Given the description of an element on the screen output the (x, y) to click on. 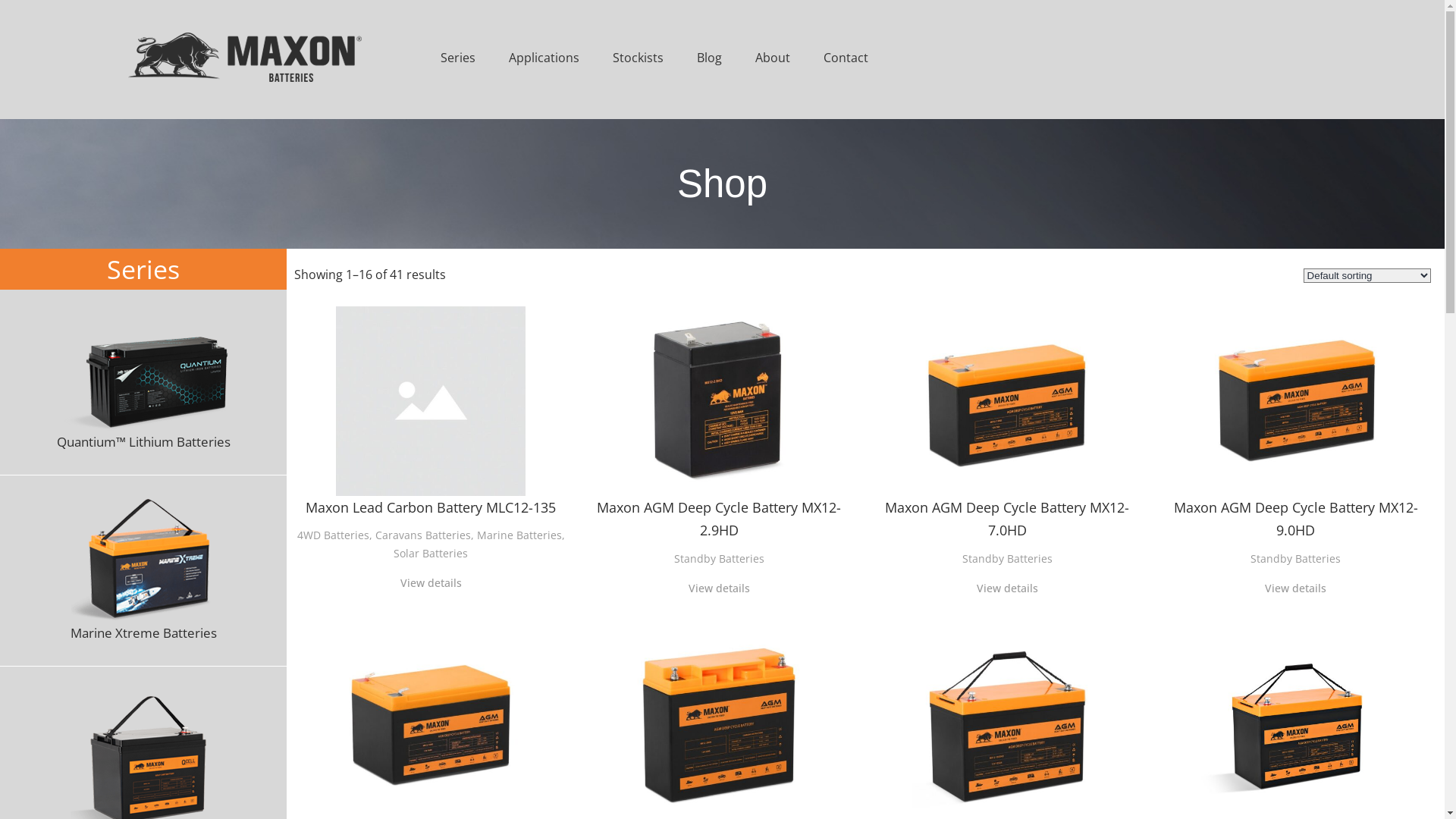
Standby Batteries Element type: text (1007, 558)
Marine Xtreme Batteries Element type: text (143, 570)
Series Element type: text (457, 56)
Marine Batteries Element type: text (518, 534)
Standby Batteries Element type: text (1295, 558)
View details Element type: text (1295, 588)
Maxon AGM Deep Cycle Battery MX12-2.9HD Element type: text (718, 424)
Maxon AGM Deep Cycle Battery MX12-7.0HD Element type: text (1006, 424)
Maxon AGM Deep Cycle Battery MX12-9.0HD Element type: text (1294, 424)
Standby Batteries Element type: text (719, 558)
View details Element type: text (430, 583)
View details Element type: text (1007, 588)
Blog Element type: text (708, 56)
Contact Element type: text (845, 56)
Maxon Lead Carbon Battery MLC12-135 Element type: text (430, 412)
Stockists Element type: text (637, 56)
Applications Element type: text (543, 56)
View details Element type: text (719, 588)
4WD Batteries Element type: text (333, 534)
Solar Batteries Element type: text (430, 553)
About Element type: text (772, 56)
Caravans Batteries Element type: text (422, 534)
